Given the description of an element on the screen output the (x, y) to click on. 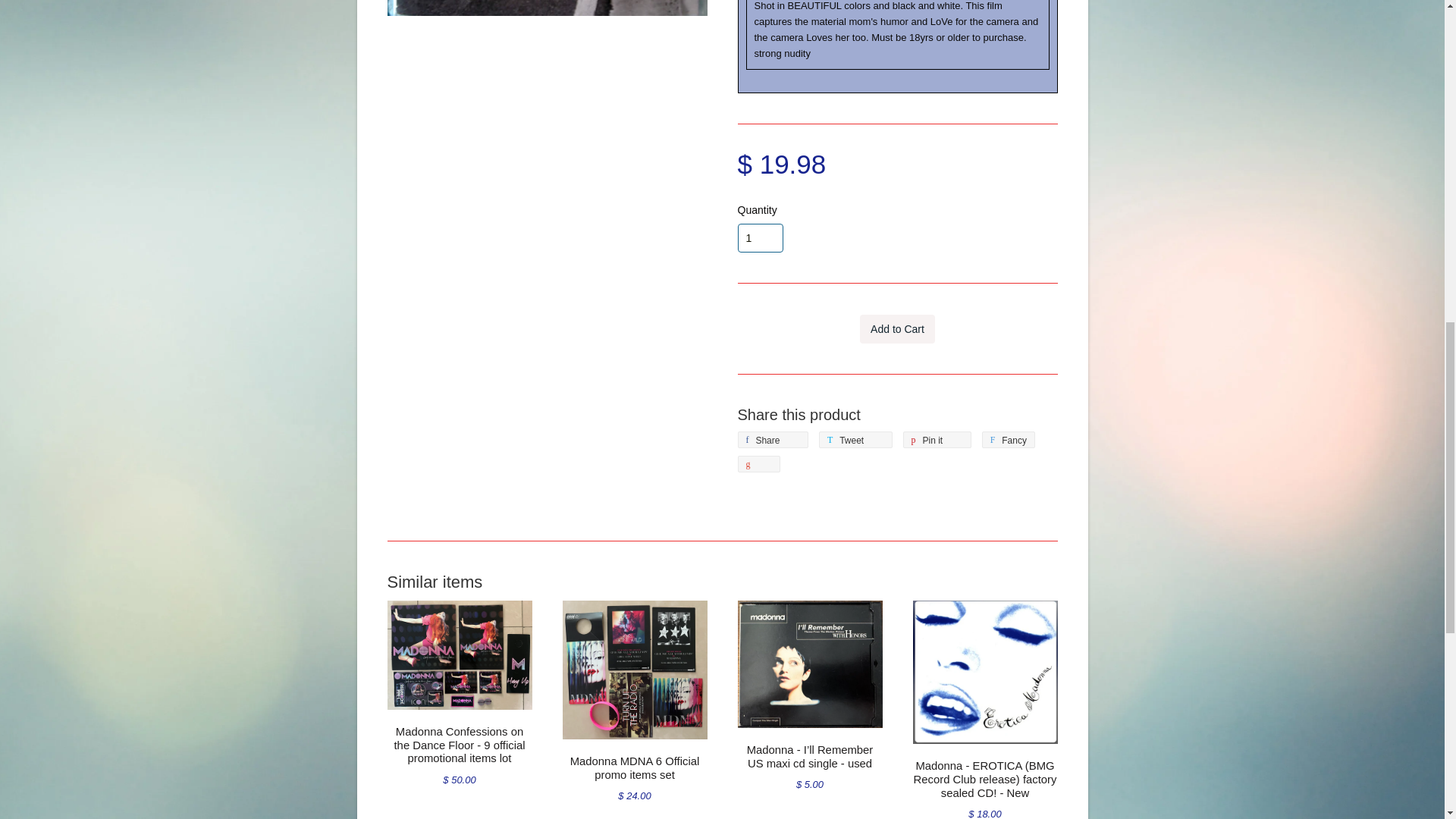
Pin it (936, 439)
Madonna MDNA 6 Official promo items set (635, 768)
Add to Cart (897, 328)
1 (759, 237)
Share (772, 439)
Fancy (1008, 439)
Tweet (855, 439)
